Given the description of an element on the screen output the (x, y) to click on. 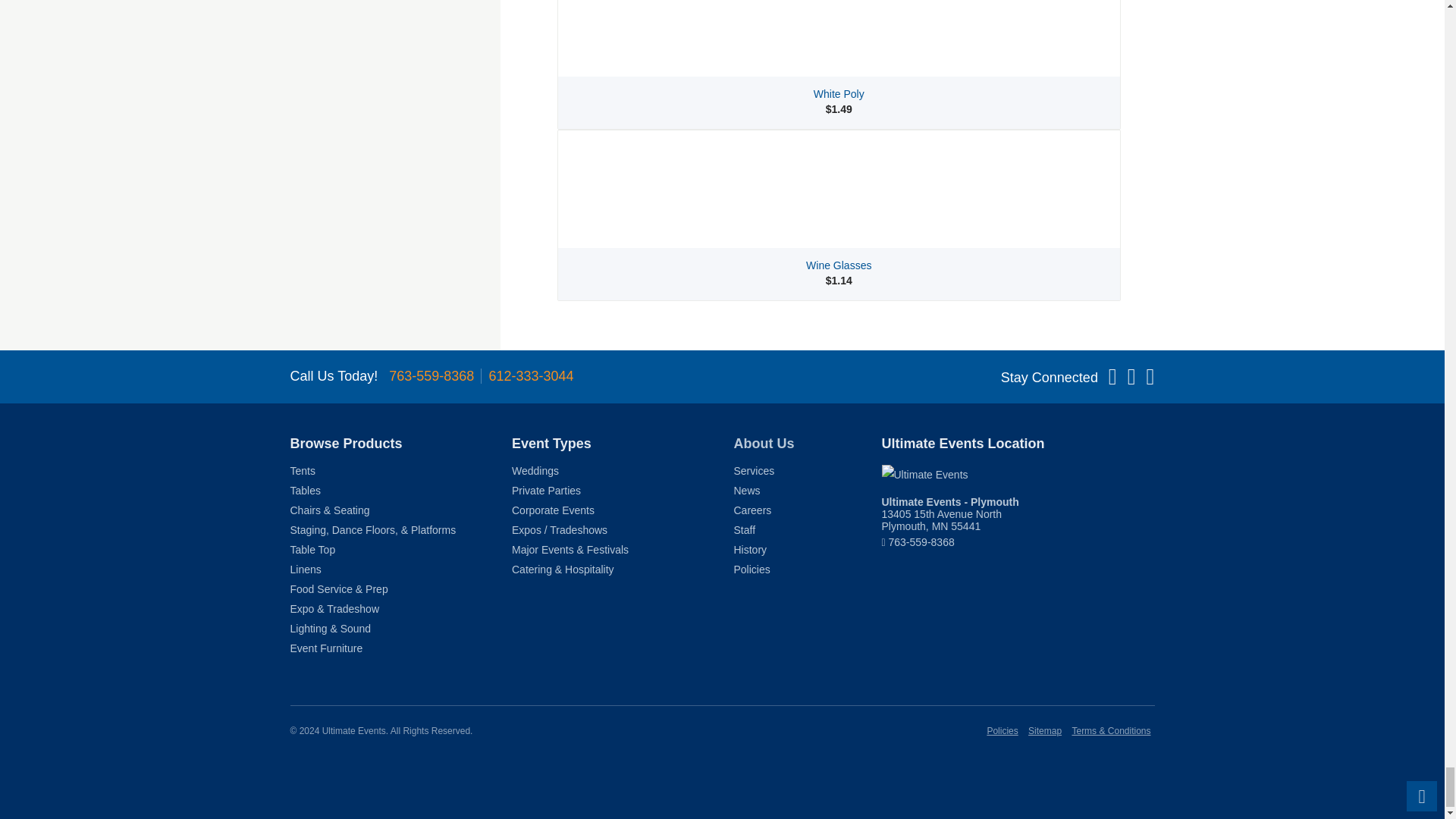
opens new window (1017, 474)
opens new window (948, 514)
